Given the description of an element on the screen output the (x, y) to click on. 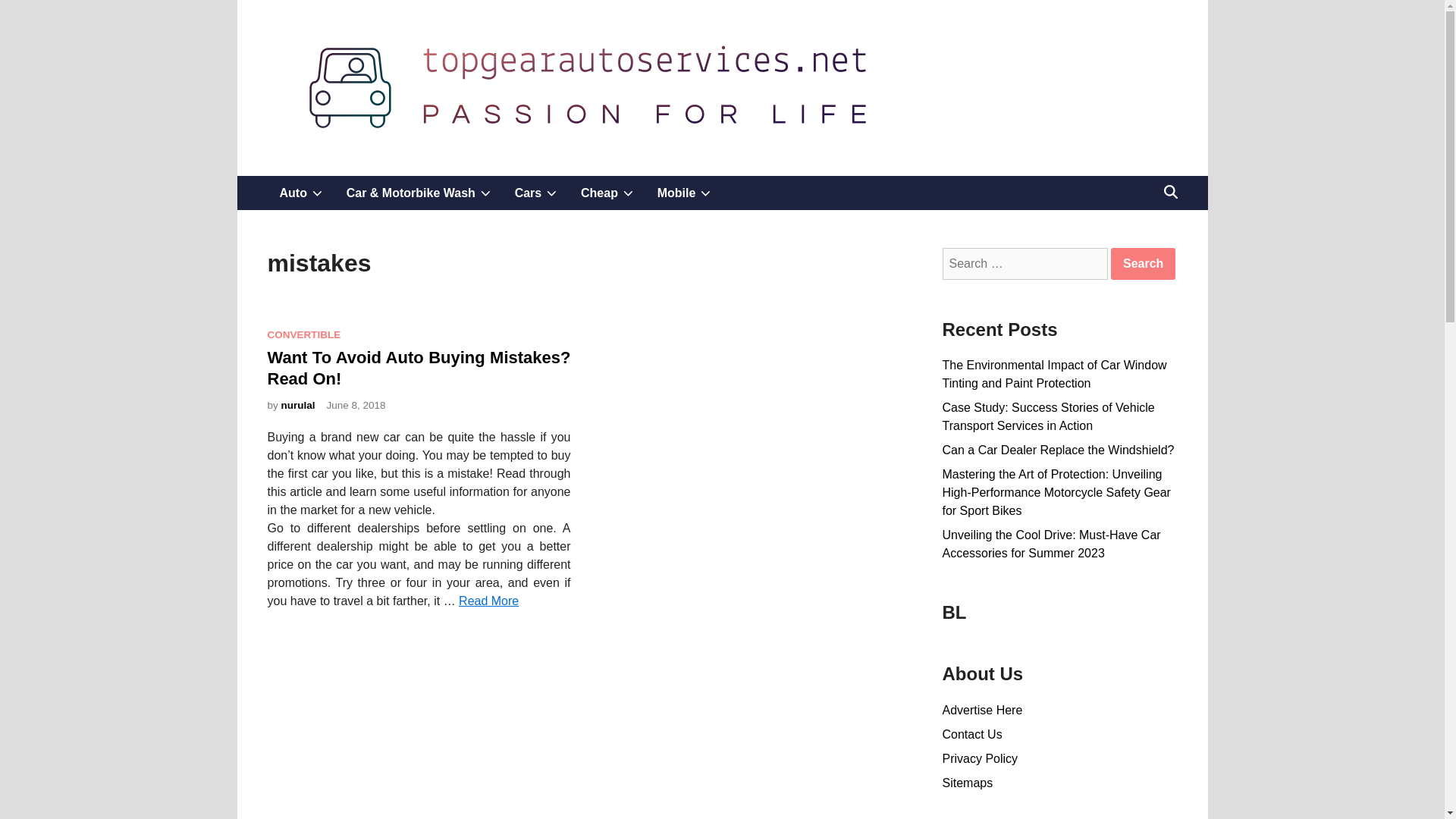
Can a Car Dealer Replace the Windshield? (535, 192)
nurulal (299, 192)
CONVERTIBLE (1057, 449)
Search (298, 405)
Want To Avoid Auto Buying Mistakes? Read On! (607, 192)
